Given the description of an element on the screen output the (x, y) to click on. 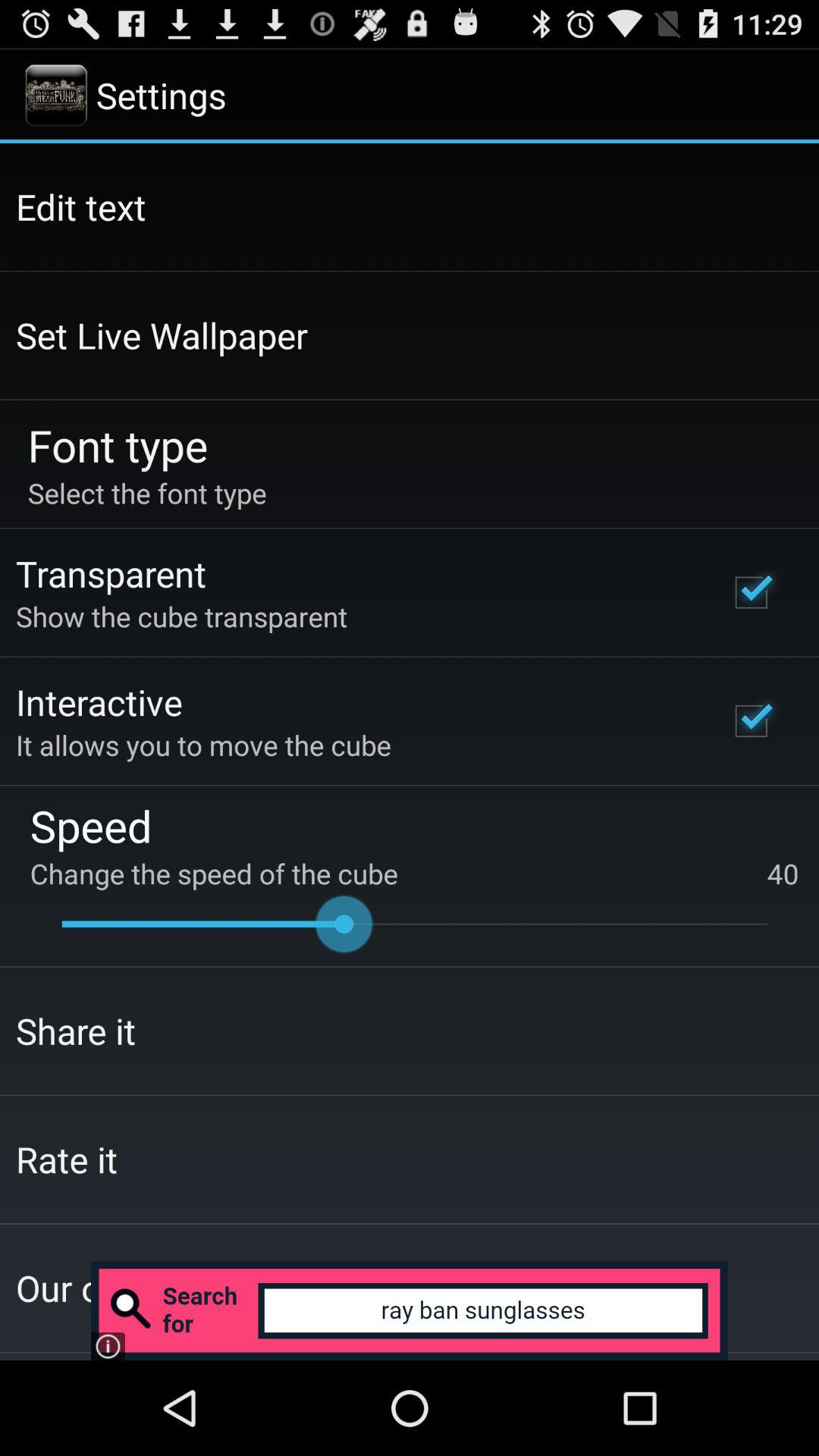
choose the icon below show the cube item (98, 701)
